Given the description of an element on the screen output the (x, y) to click on. 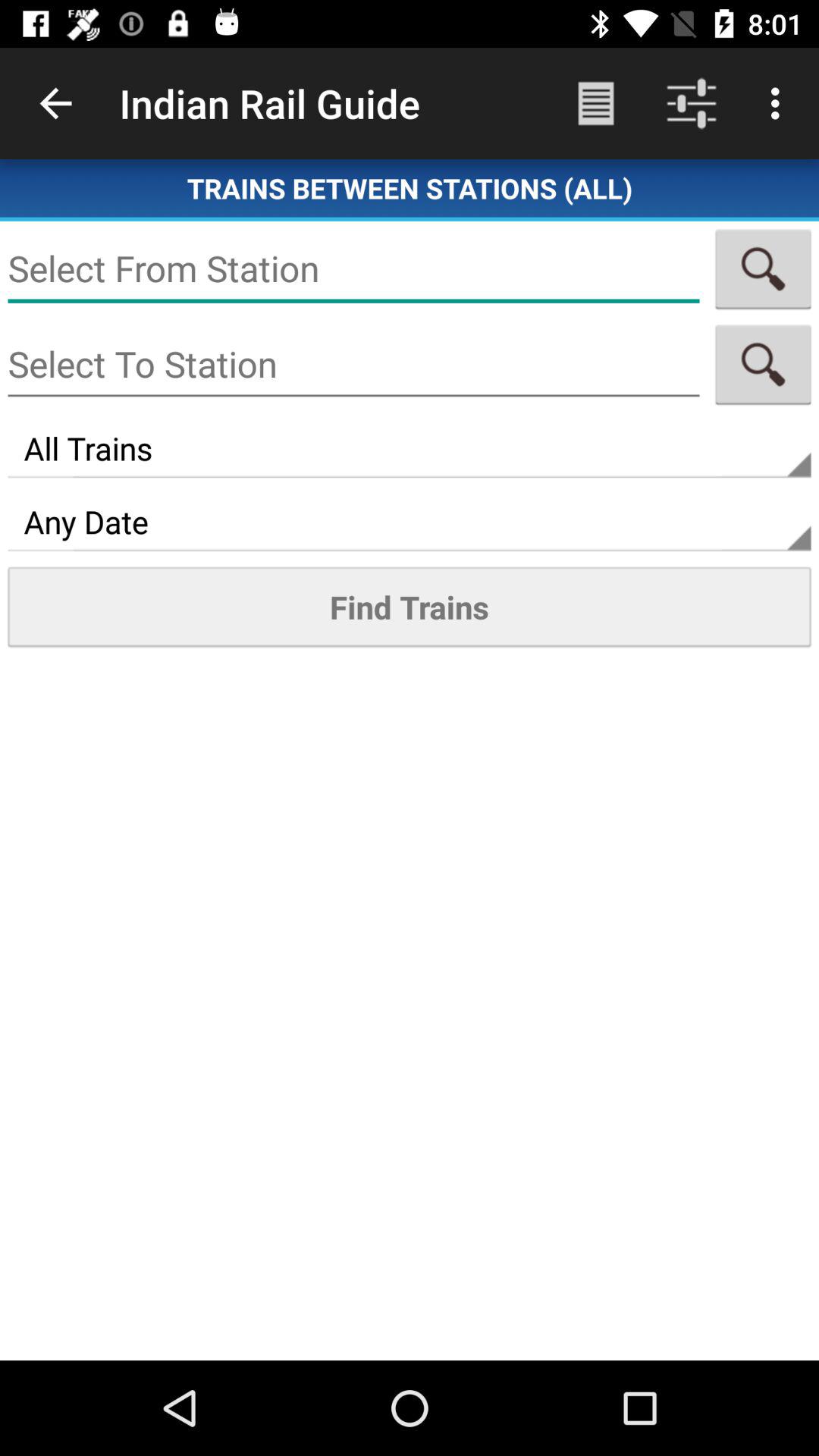
search from location (763, 268)
